Given the description of an element on the screen output the (x, y) to click on. 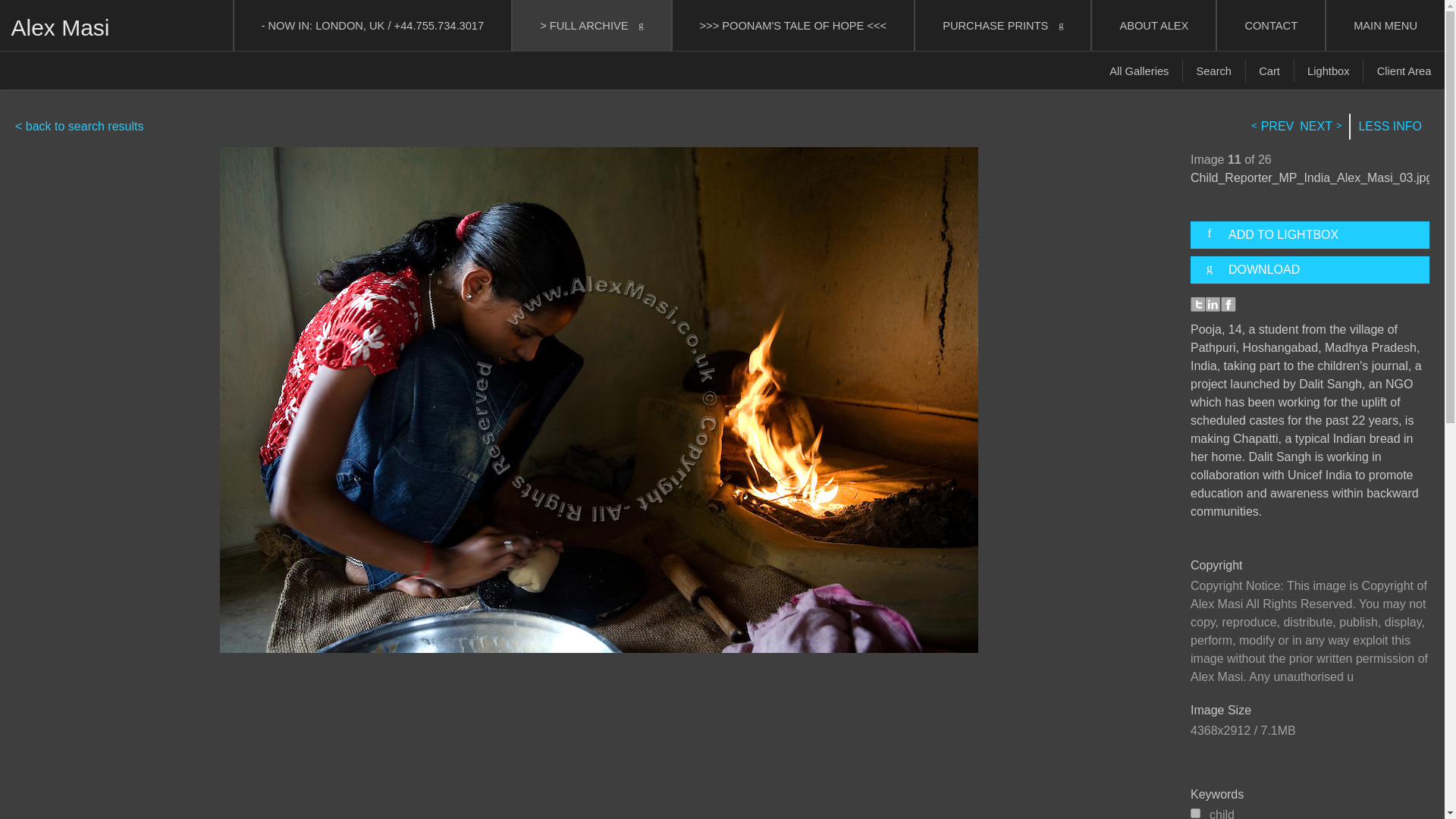
ABOUT ALEX (1153, 25)
PREV (1273, 126)
Info (1390, 126)
All Galleries (1139, 70)
Lightbox (1328, 70)
Alex Masi (59, 27)
Alex Masi (59, 27)
Search (1214, 70)
CONTACT (1270, 25)
Cart (1270, 70)
back to search results (78, 125)
child (1195, 813)
NEXT (1318, 126)
DOWNLOAD (1316, 269)
ADD TO LIGHTBOX (1316, 234)
